Given the description of an element on the screen output the (x, y) to click on. 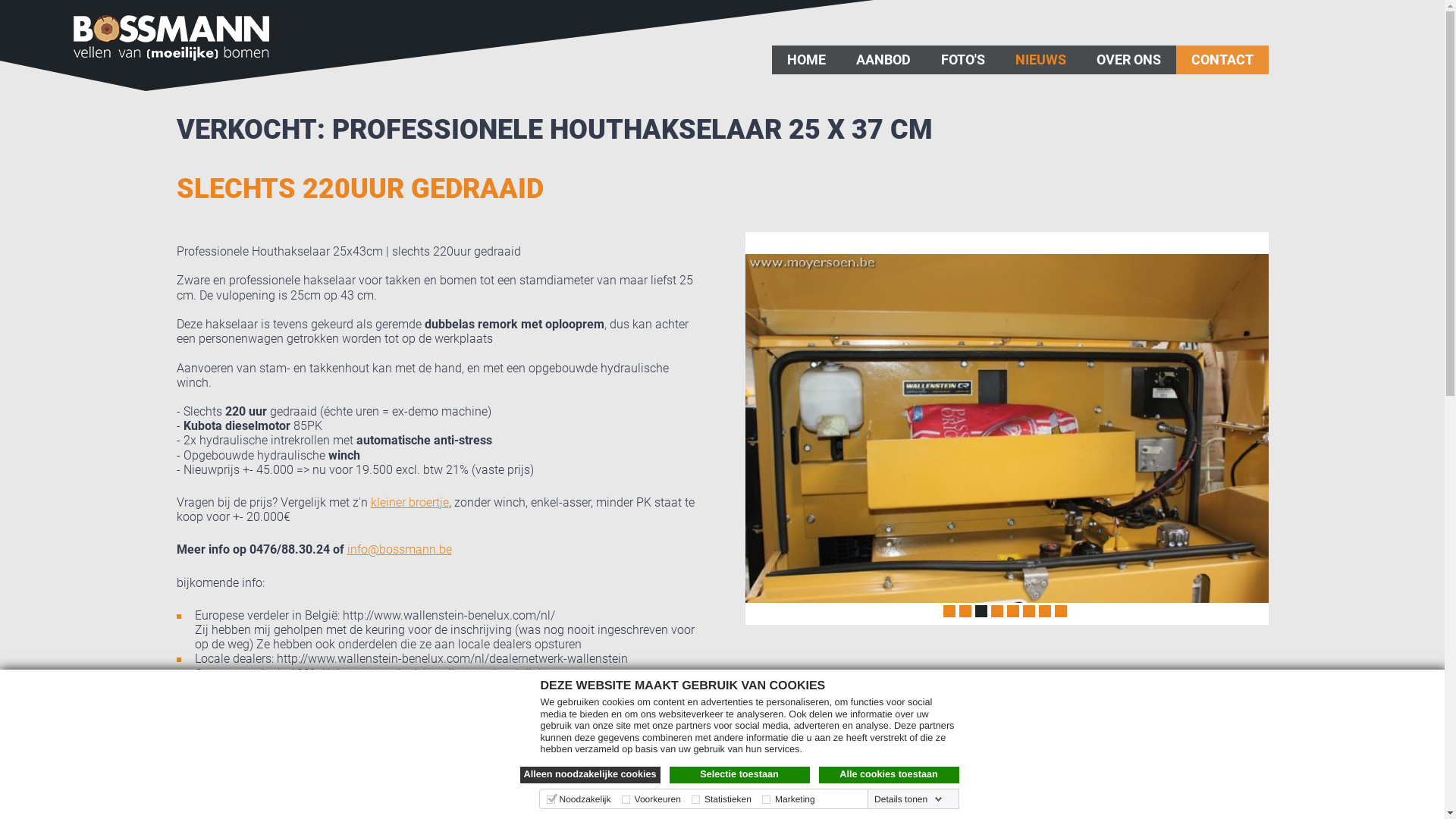
Alle cookies toestaan Element type: text (889, 774)
AANBOD Element type: text (882, 59)
info@bossmann.be Element type: text (399, 549)
CONTACT Element type: text (1221, 59)
Details tonen Element type: text (908, 799)
kleiner broertje Element type: text (409, 502)
HOME Element type: text (805, 59)
Selectie toestaan Element type: text (738, 774)
FOTO'S Element type: text (962, 59)
Alleen noodzakelijke cookies Element type: text (590, 774)
NIEUWS Element type: text (1039, 59)
OVER ONS Element type: text (1128, 59)
